Given the description of an element on the screen output the (x, y) to click on. 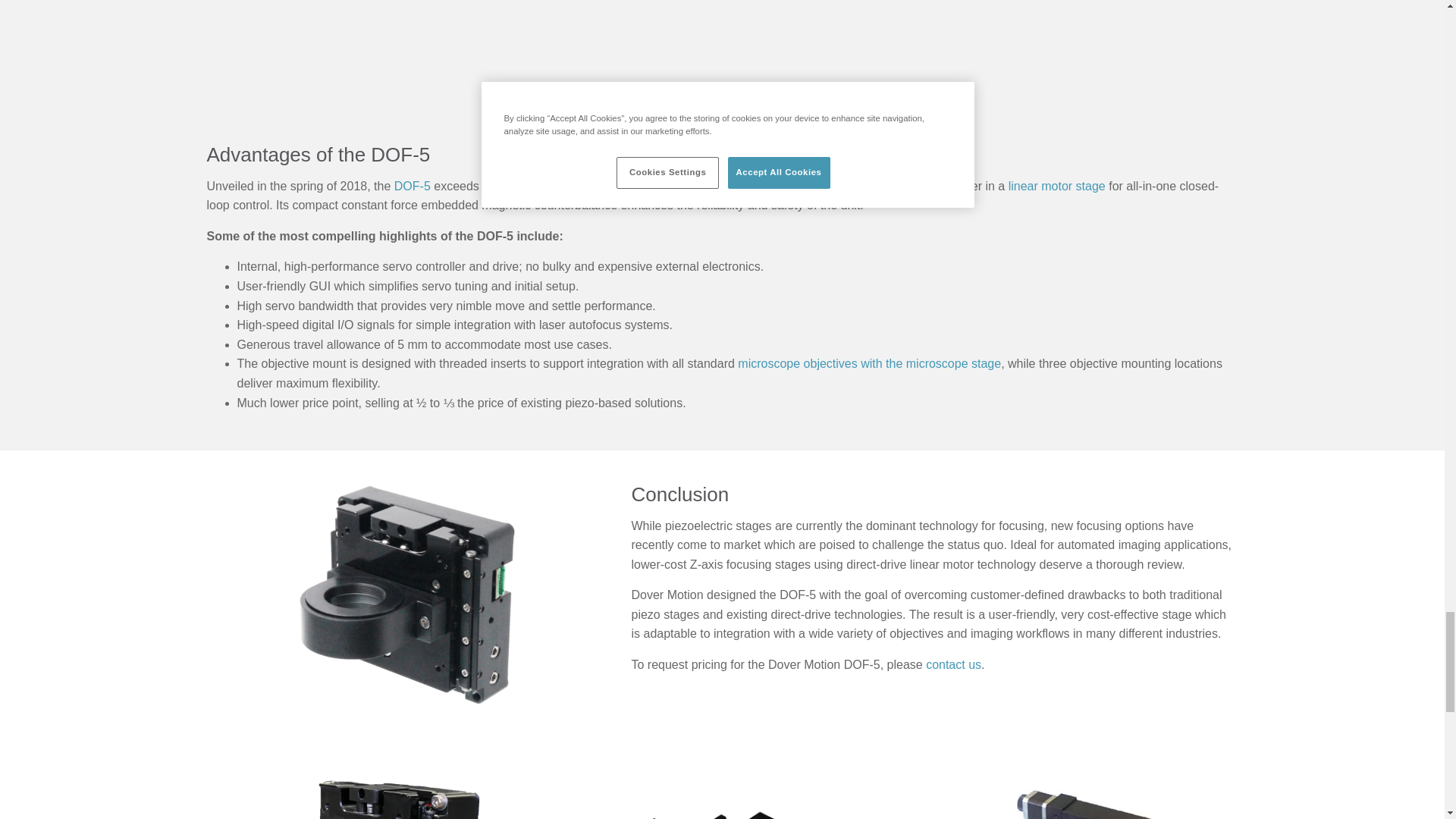
DOF-threaded-adapter-view (402, 594)
YouTube video player (554, 52)
SmartStage-XY-Microsope-Stage-650x650 (721, 786)
